Given the description of an element on the screen output the (x, y) to click on. 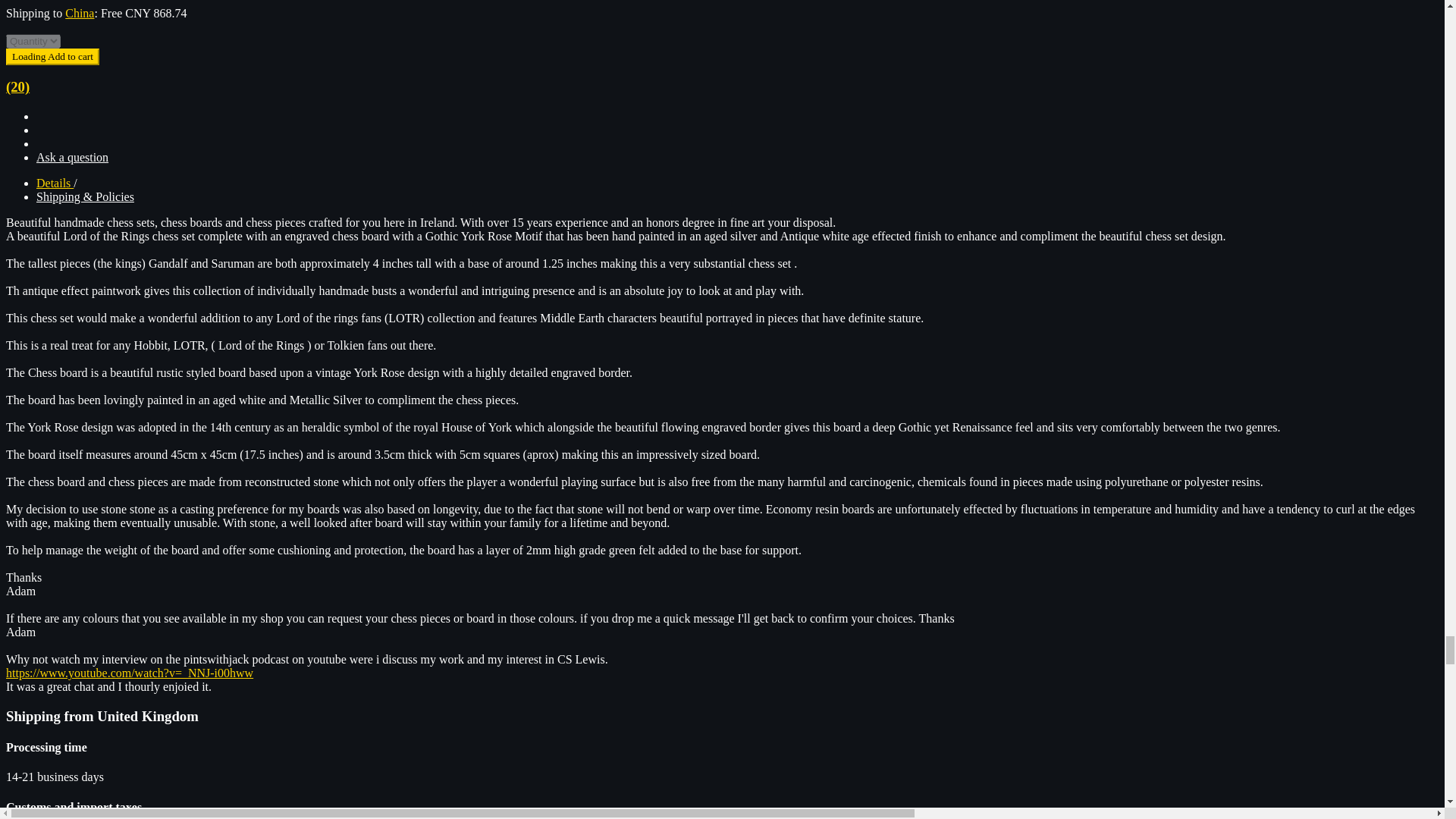
Ask a question (71, 156)
China (79, 12)
Details (55, 182)
Loading Add to cart (52, 56)
